Given the description of an element on the screen output the (x, y) to click on. 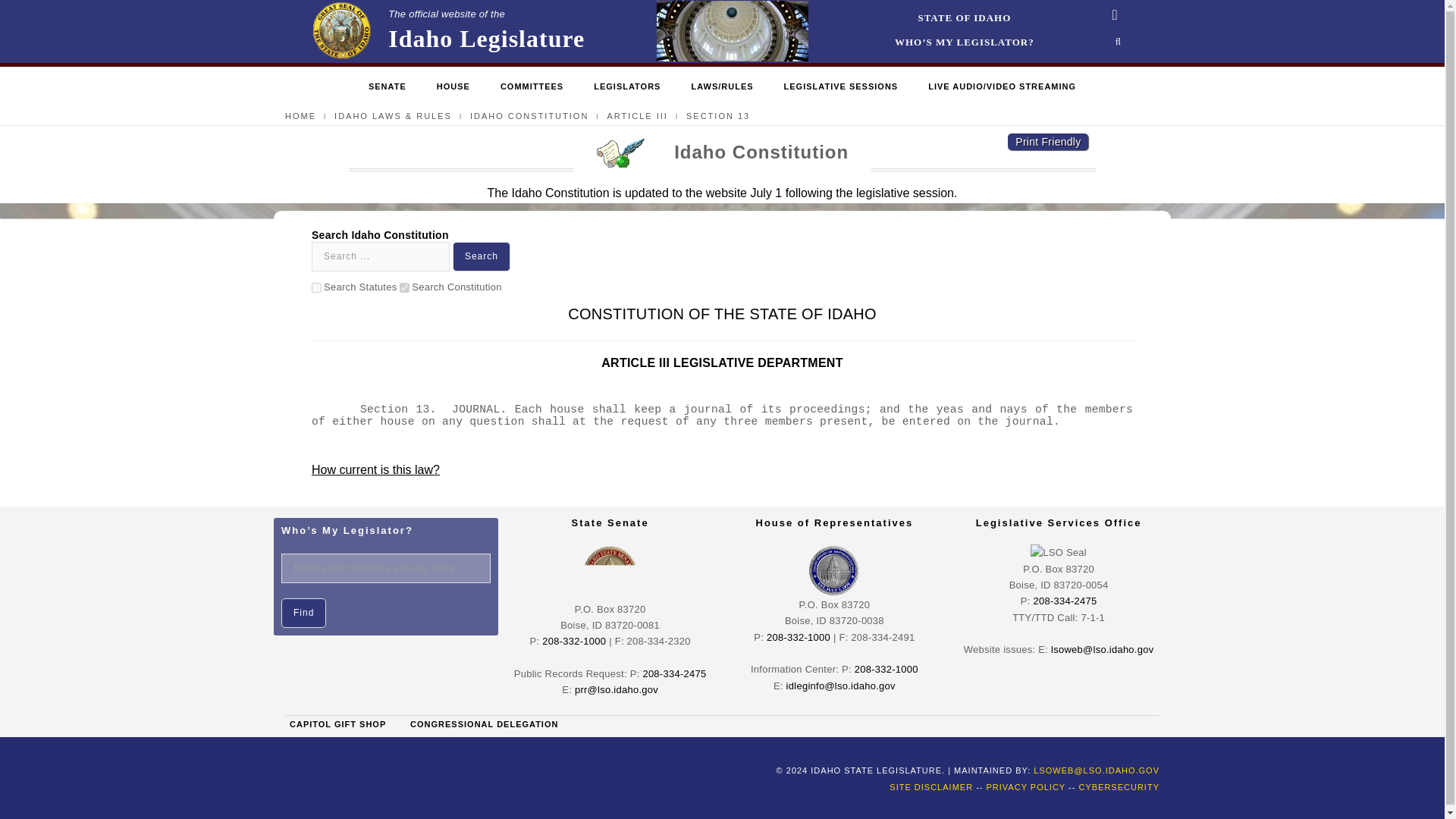
SENATE (387, 87)
Browse to: Idaho Constitution (529, 115)
HOUSE (453, 87)
LEGISLATORS (627, 87)
Find (303, 613)
COMMITTEES (446, 30)
STATE OF IDAHO (531, 87)
Browse to: Home (964, 18)
idaho statutes (300, 115)
Search (316, 287)
Browse to: ARTICLE III (481, 256)
idaho constitution (636, 115)
